Given the description of an element on the screen output the (x, y) to click on. 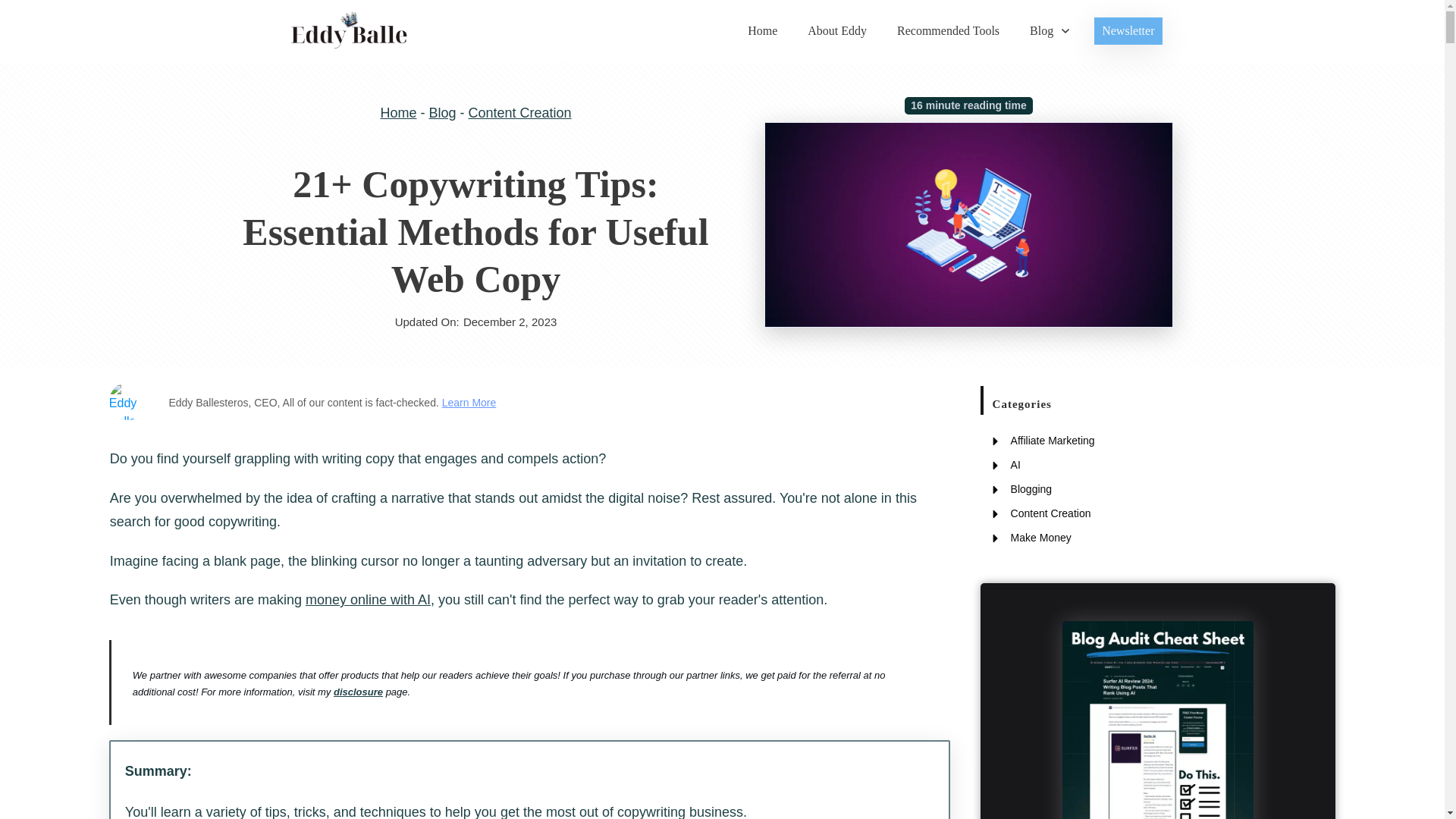
Home (762, 30)
Recommended Tools (947, 30)
About Eddy (837, 30)
Eddy Balle Author Image (128, 401)
Learn More (469, 402)
Blog (441, 111)
disclosure (357, 691)
Content Creation (518, 111)
Blog post audit cheat sheet (1157, 719)
money online with AI (367, 599)
Newsletter (1128, 30)
Blog (1050, 30)
Home (398, 111)
